Given the description of an element on the screen output the (x, y) to click on. 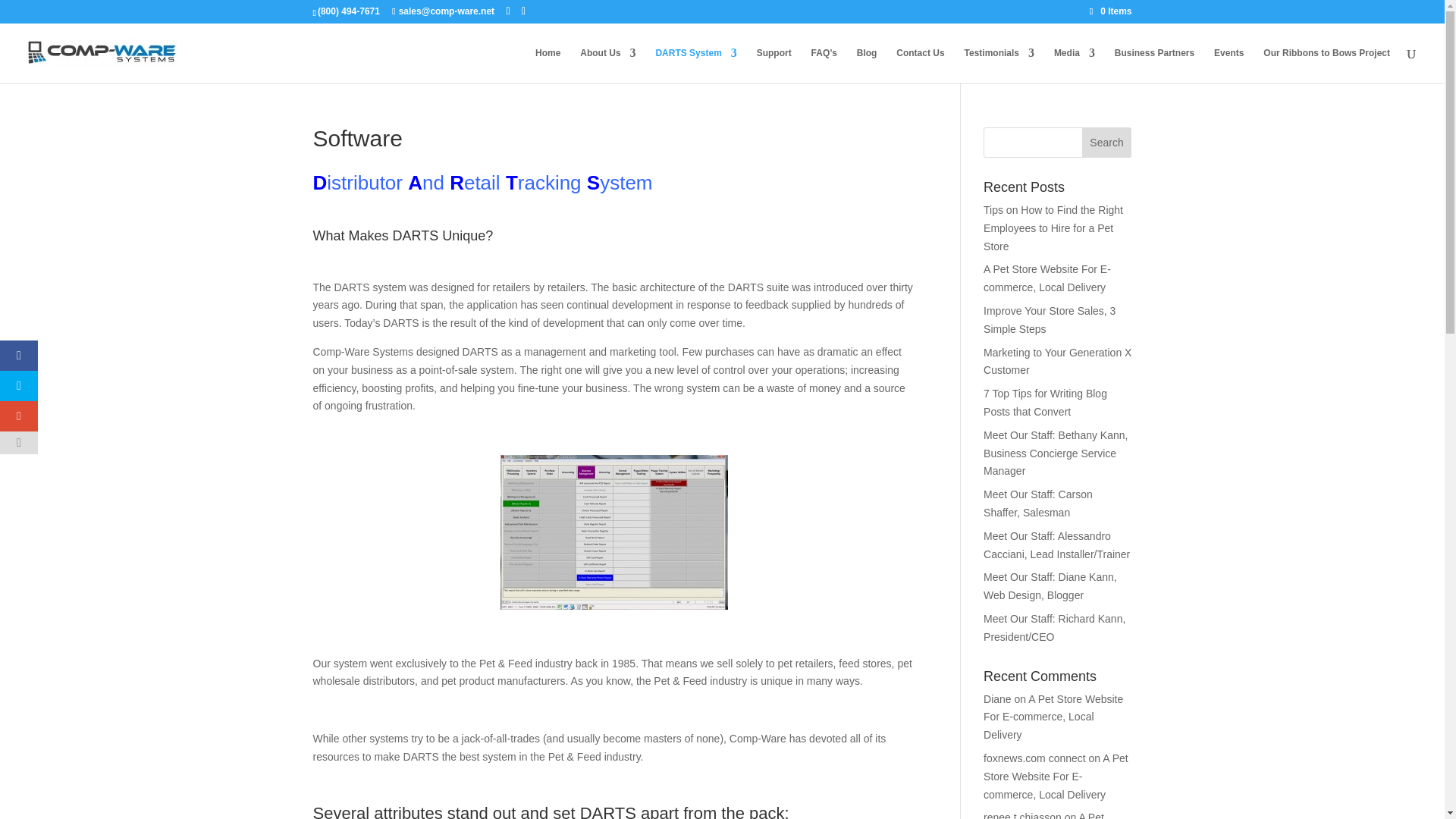
Media (1074, 65)
About Us (606, 65)
Search (1106, 142)
DARTS System (695, 65)
0 Items (1110, 10)
Our Ribbons to Bows Project (1326, 65)
Support (774, 65)
Contact Us (919, 65)
Testimonials (998, 65)
Business Partners (1154, 65)
